Given the description of an element on the screen output the (x, y) to click on. 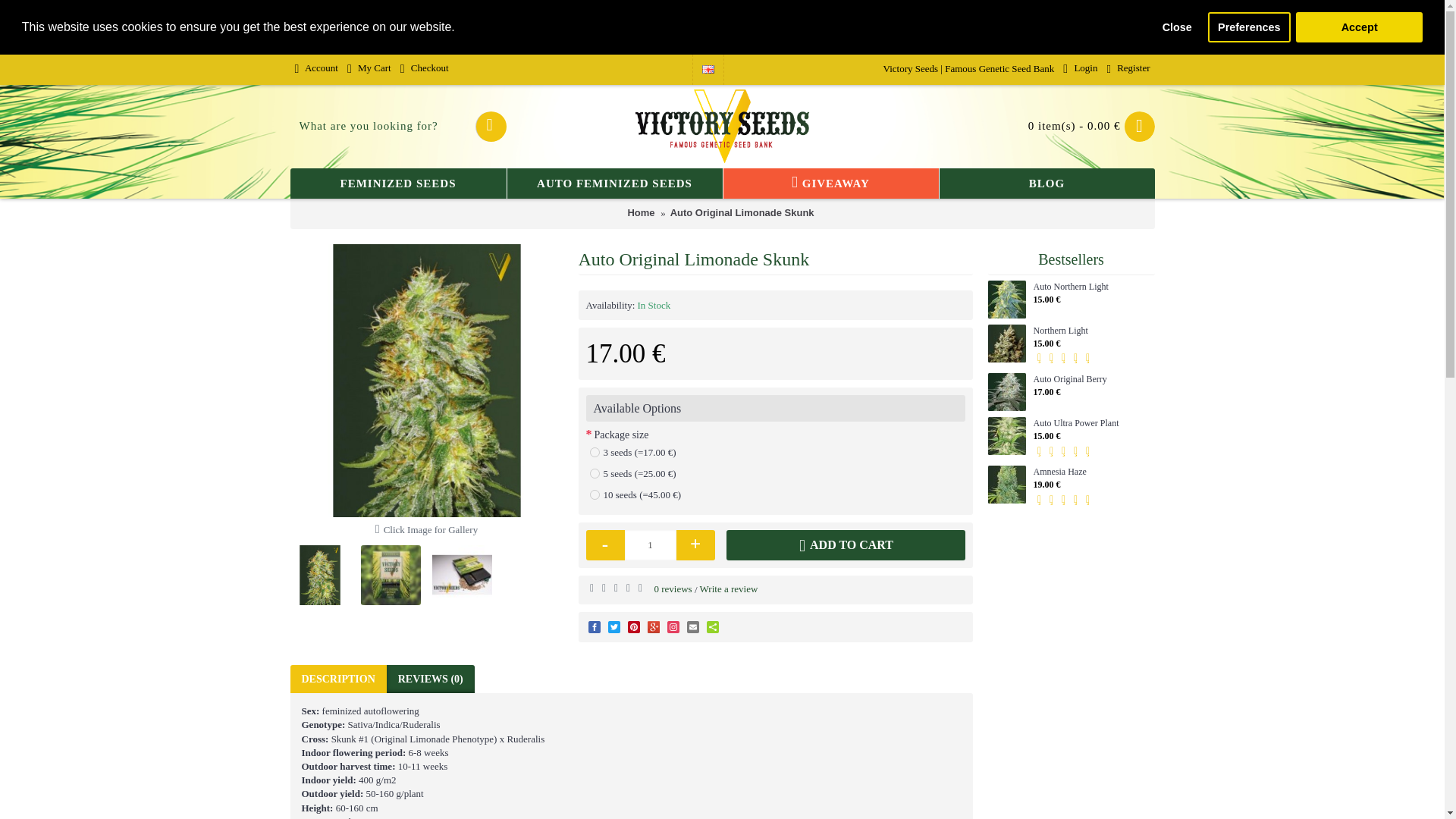
Auto Ultra Power Plant (1006, 435)
1400 (594, 452)
Auto Original Limonade Skunk (319, 575)
Account (315, 69)
Accept (1358, 27)
1 (650, 544)
Checkout (424, 69)
Auto Original Limonade Skunk (462, 575)
Auto Original Limonade Skunk (425, 380)
FEMINIZED SEEDS (397, 183)
Preferences (1249, 27)
Register (1128, 69)
Victory Seeds (721, 126)
Northern Light (1006, 343)
Auto Original Limonade Skunk (390, 575)
